Given the description of an element on the screen output the (x, y) to click on. 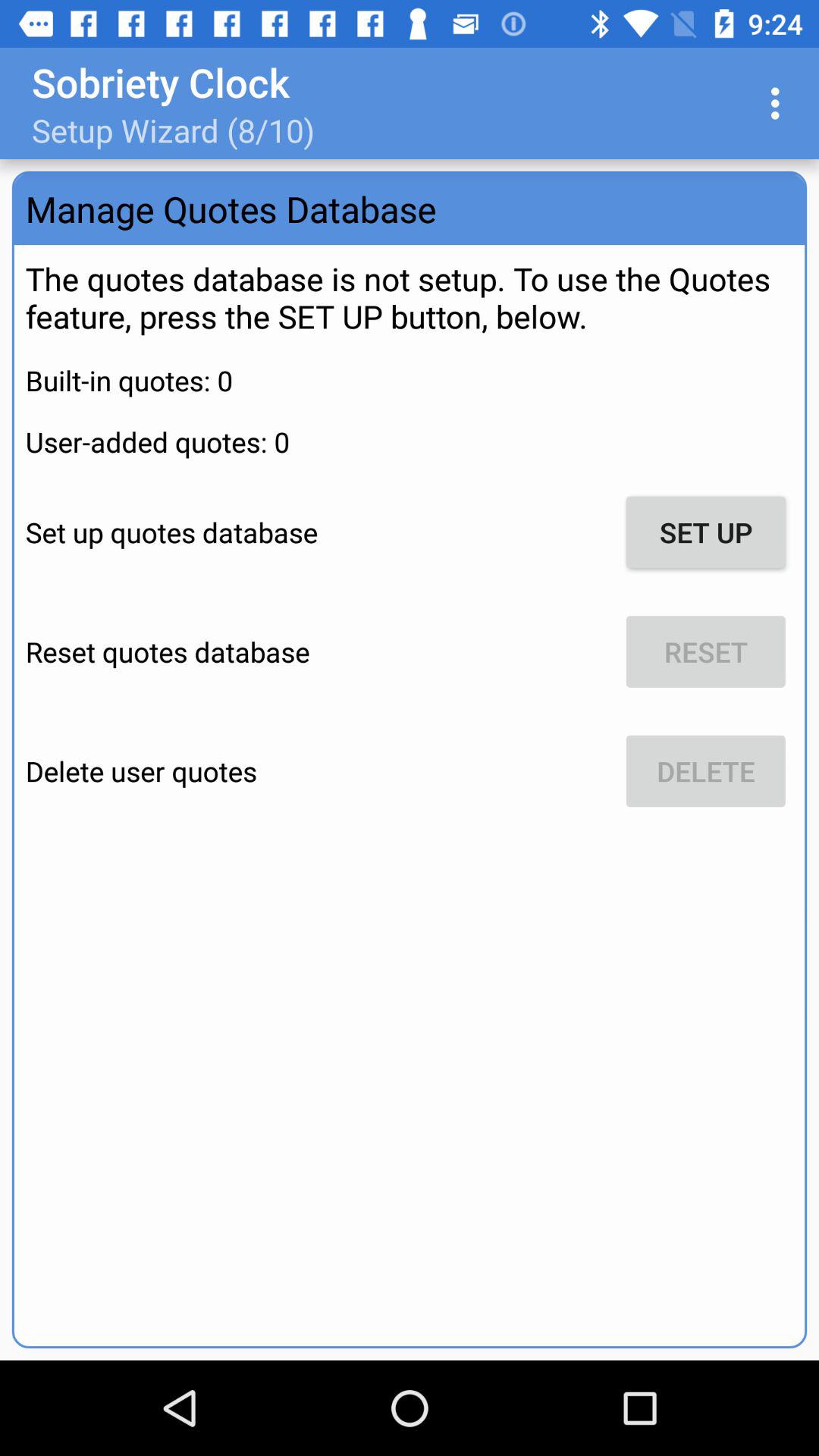
choose item above manage quotes database icon (779, 103)
